Given the description of an element on the screen output the (x, y) to click on. 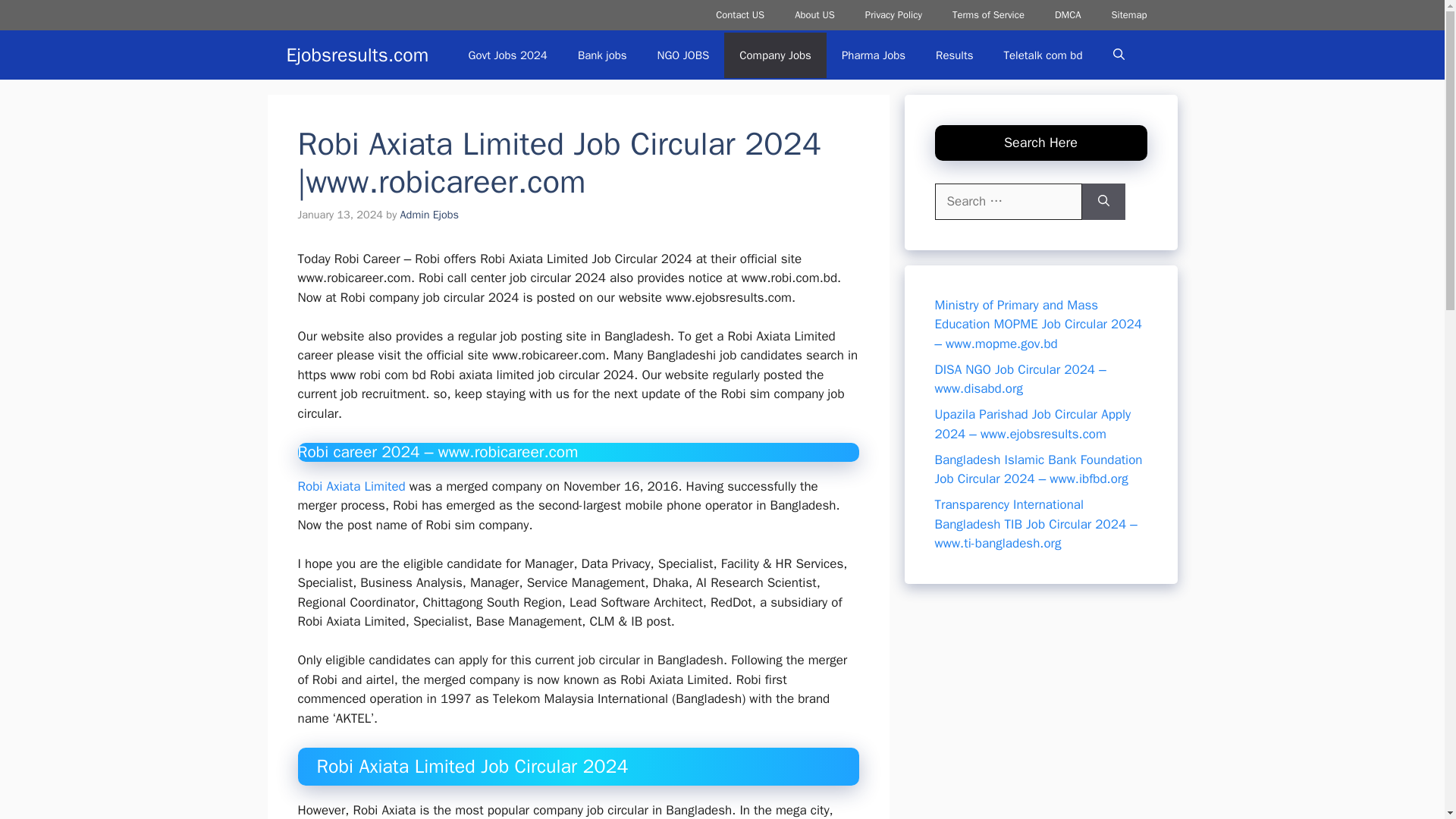
View all posts by Admin Ejobs (430, 214)
Privacy Policy (893, 15)
Company Jobs (775, 53)
Contact US (739, 15)
Teletalk com bd (1042, 53)
Govt Jobs 2024 (507, 53)
Admin Ejobs (430, 214)
Sitemap (1128, 15)
Ejobsresults.com (357, 54)
Results (954, 53)
NGO JOBS (683, 53)
Robi Axiata Limited (350, 486)
Pharma Jobs (873, 53)
Bank jobs (602, 53)
DMCA (1067, 15)
